Given the description of an element on the screen output the (x, y) to click on. 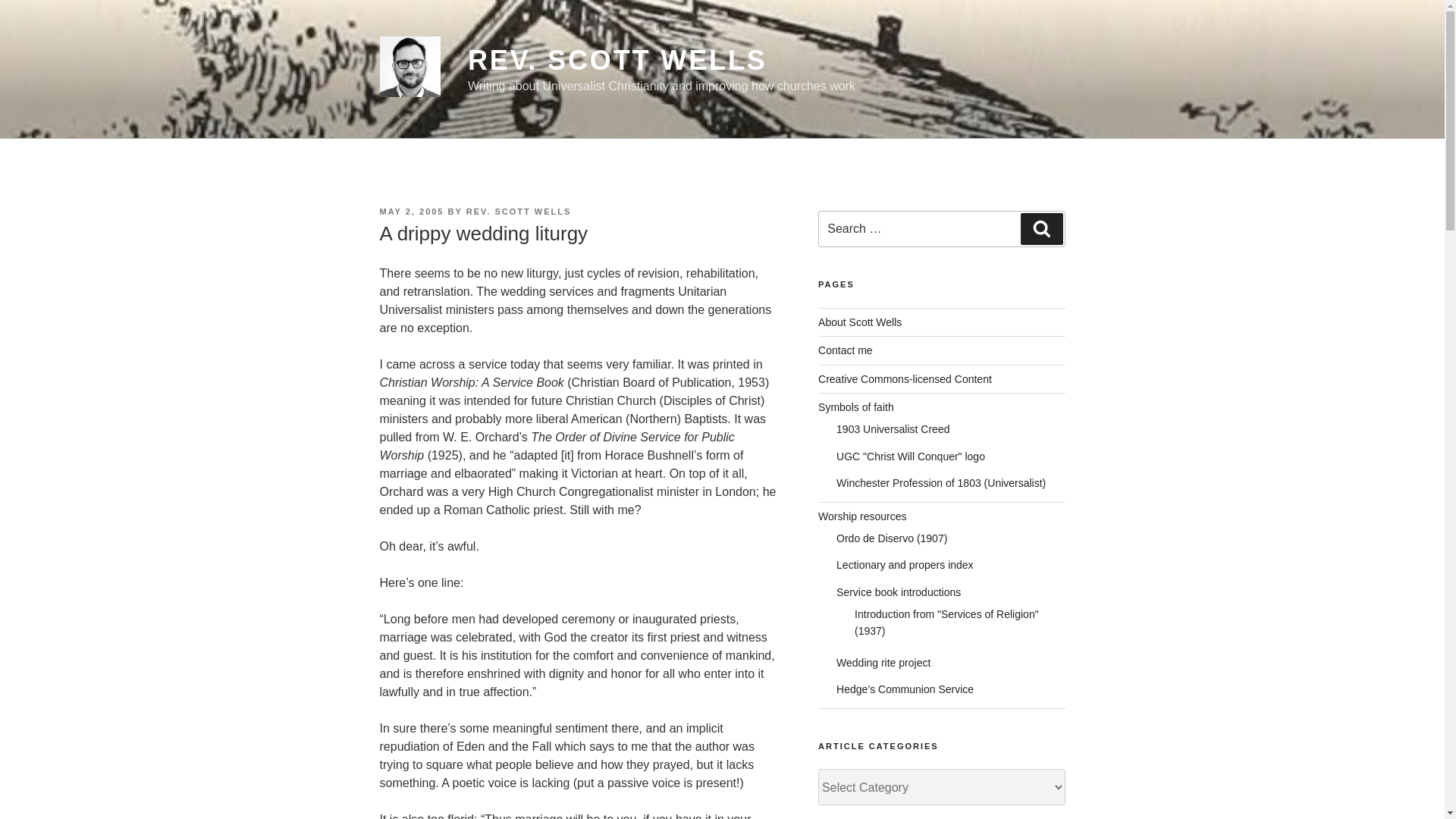
Service book introductions (897, 592)
Worship resources (861, 515)
REV. SCOTT WELLS (518, 211)
Symbols of faith (855, 407)
MAY 2, 2005 (411, 211)
Lectionary and propers index (904, 564)
Search (1041, 228)
REV. SCOTT WELLS (617, 60)
Wedding rite project (882, 662)
Creative Commons-licensed Content (904, 378)
Contact me (845, 349)
About Scott Wells (859, 322)
UGC "Christ Will Conquer" logo (910, 456)
1903 Universalist Creed (892, 428)
